Given the description of an element on the screen output the (x, y) to click on. 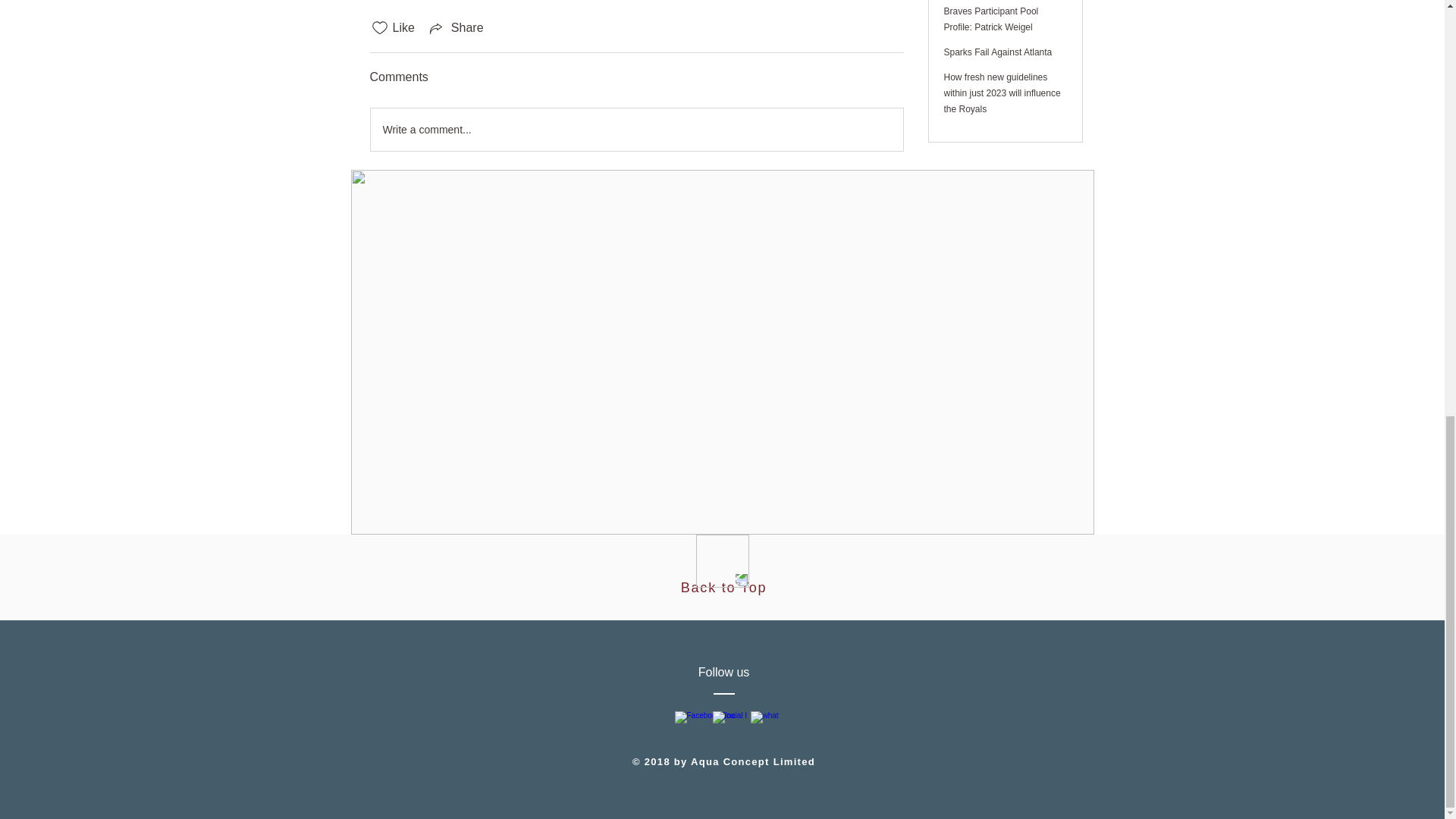
Write a comment... (635, 129)
Share (454, 27)
Back to Top (724, 587)
